Given the description of an element on the screen output the (x, y) to click on. 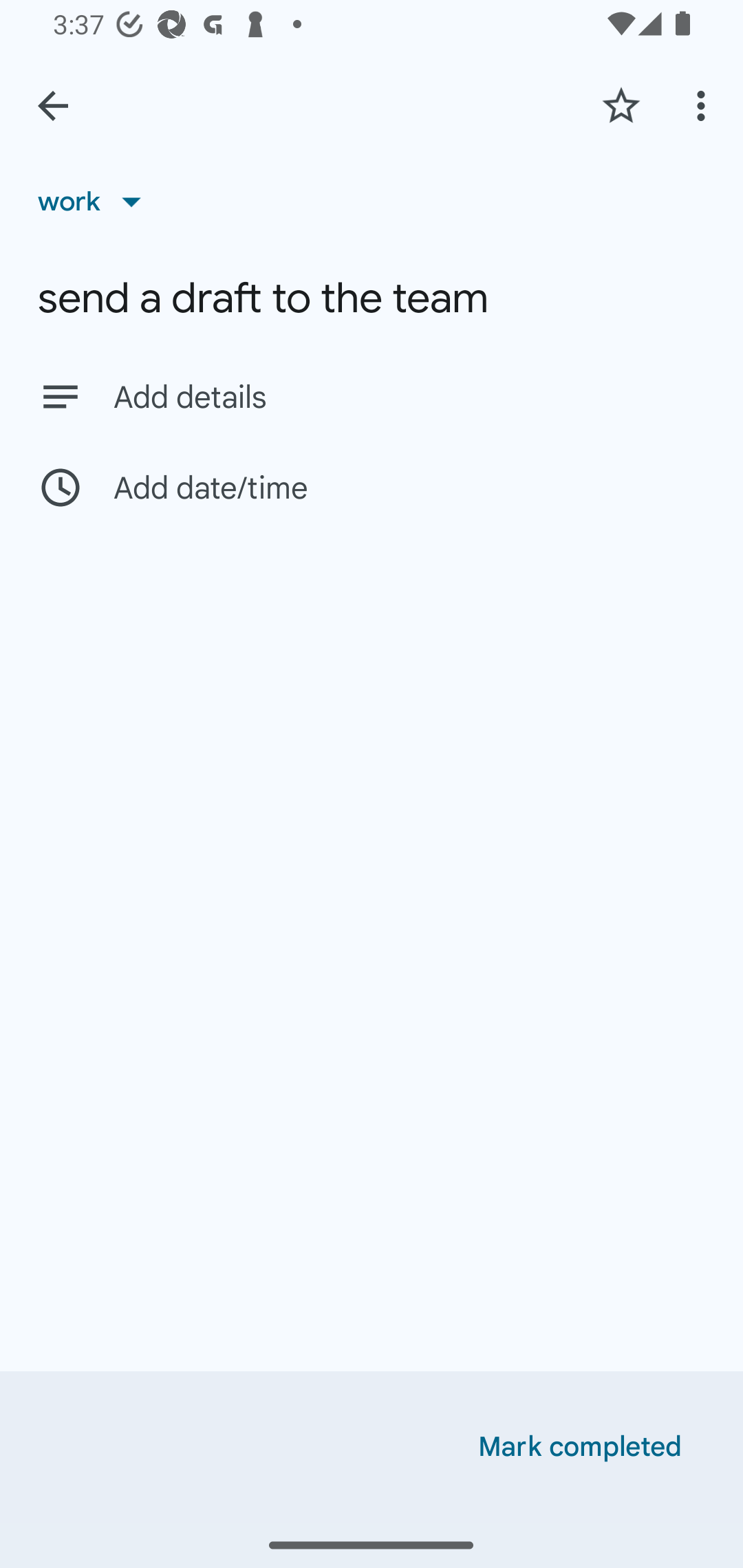
Back (53, 105)
Add star (620, 105)
More options (704, 105)
work List, work selected, 1 of 6 (95, 201)
send a draft to the team (371, 298)
Add details (371, 396)
Add details (409, 397)
Add date/time (371, 487)
Mark completed (580, 1446)
